Given the description of an element on the screen output the (x, y) to click on. 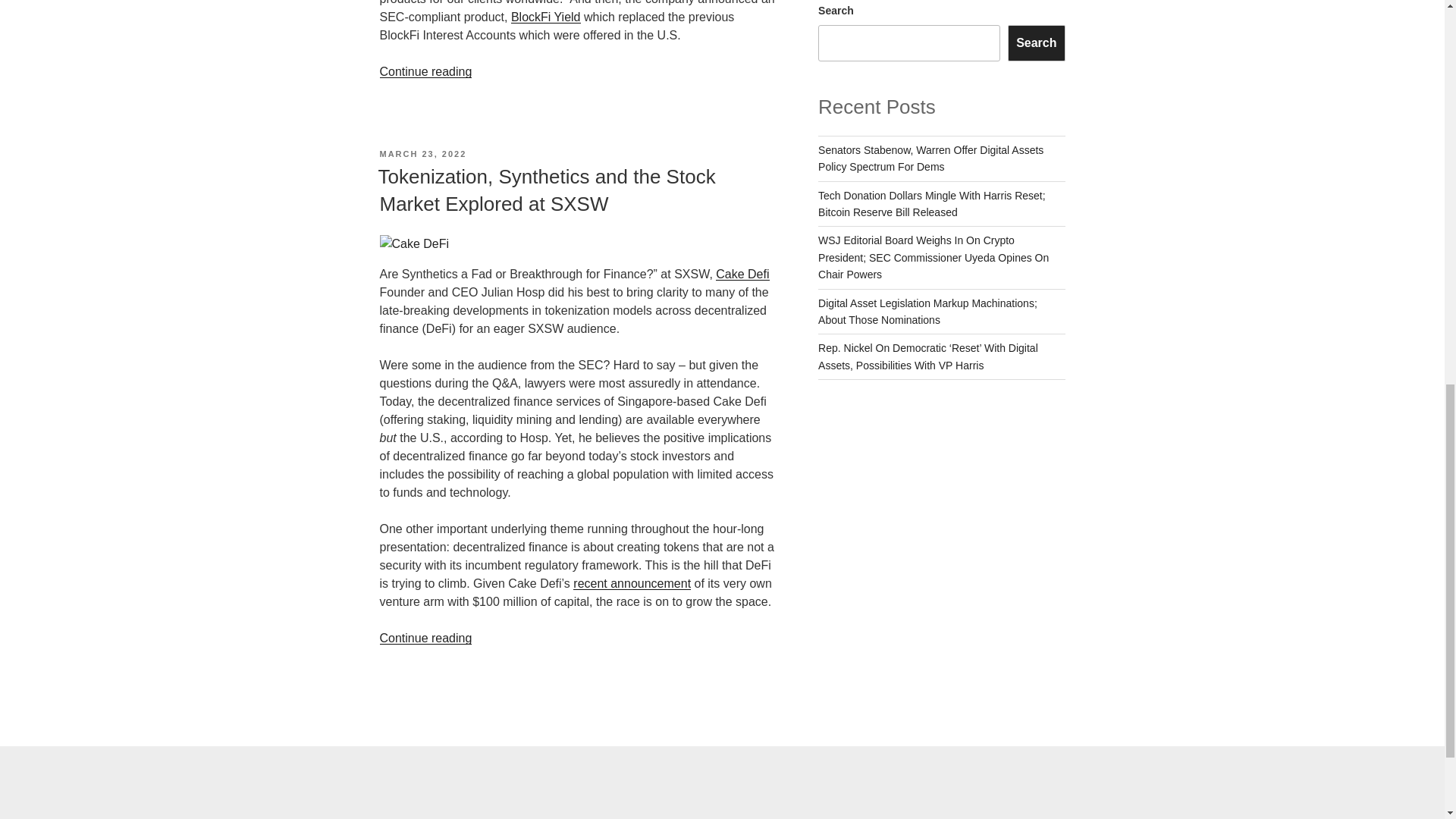
MARCH 23, 2022 (421, 153)
BlockFi Yield (545, 16)
Cake Defi (742, 273)
recent announcement (631, 583)
Search (1035, 43)
